Given the description of an element on the screen output the (x, y) to click on. 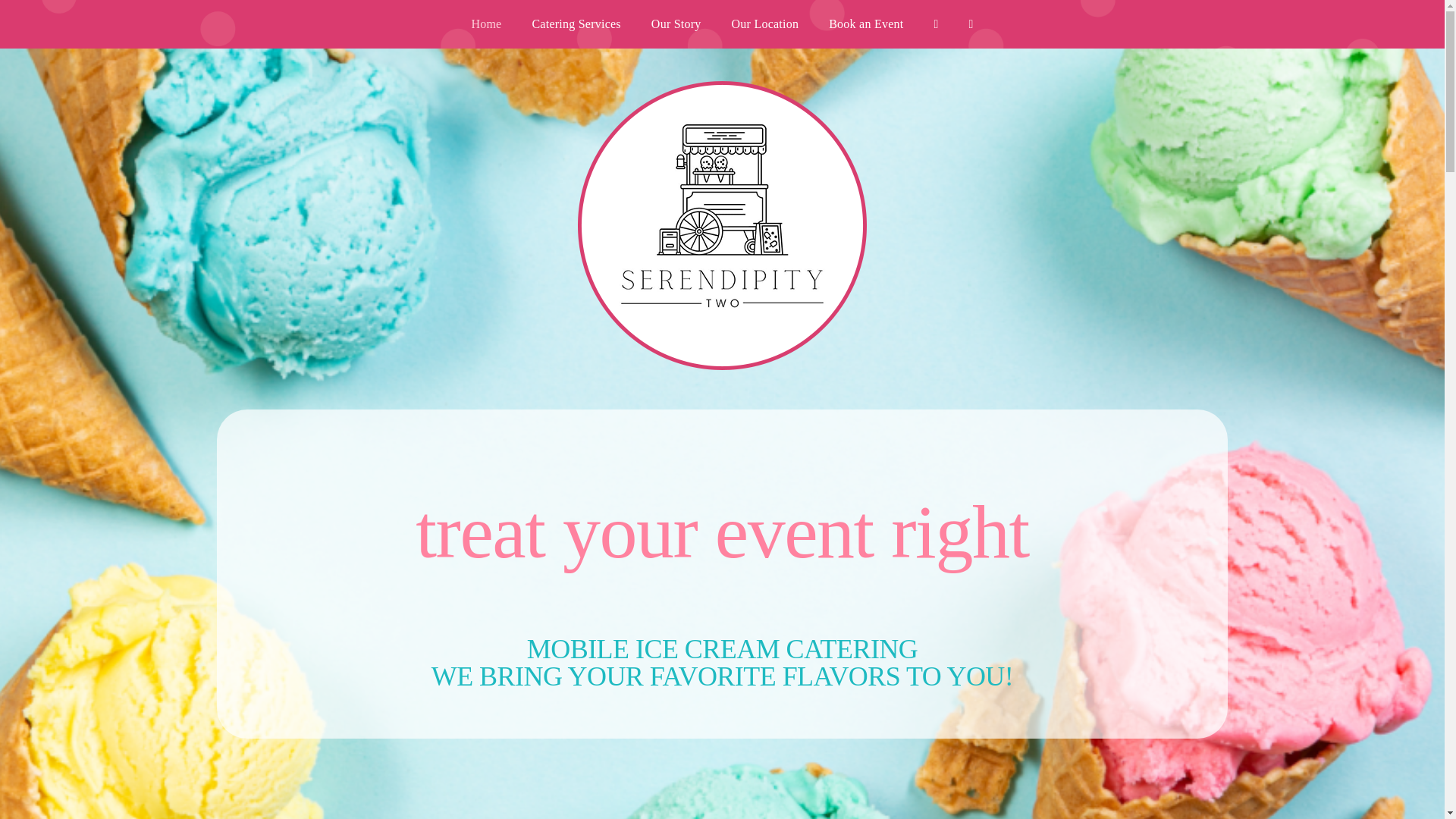
Our Story (676, 24)
Home (485, 24)
Our Location (764, 24)
Book an Event (865, 24)
Catering Services (575, 24)
